Given the description of an element on the screen output the (x, y) to click on. 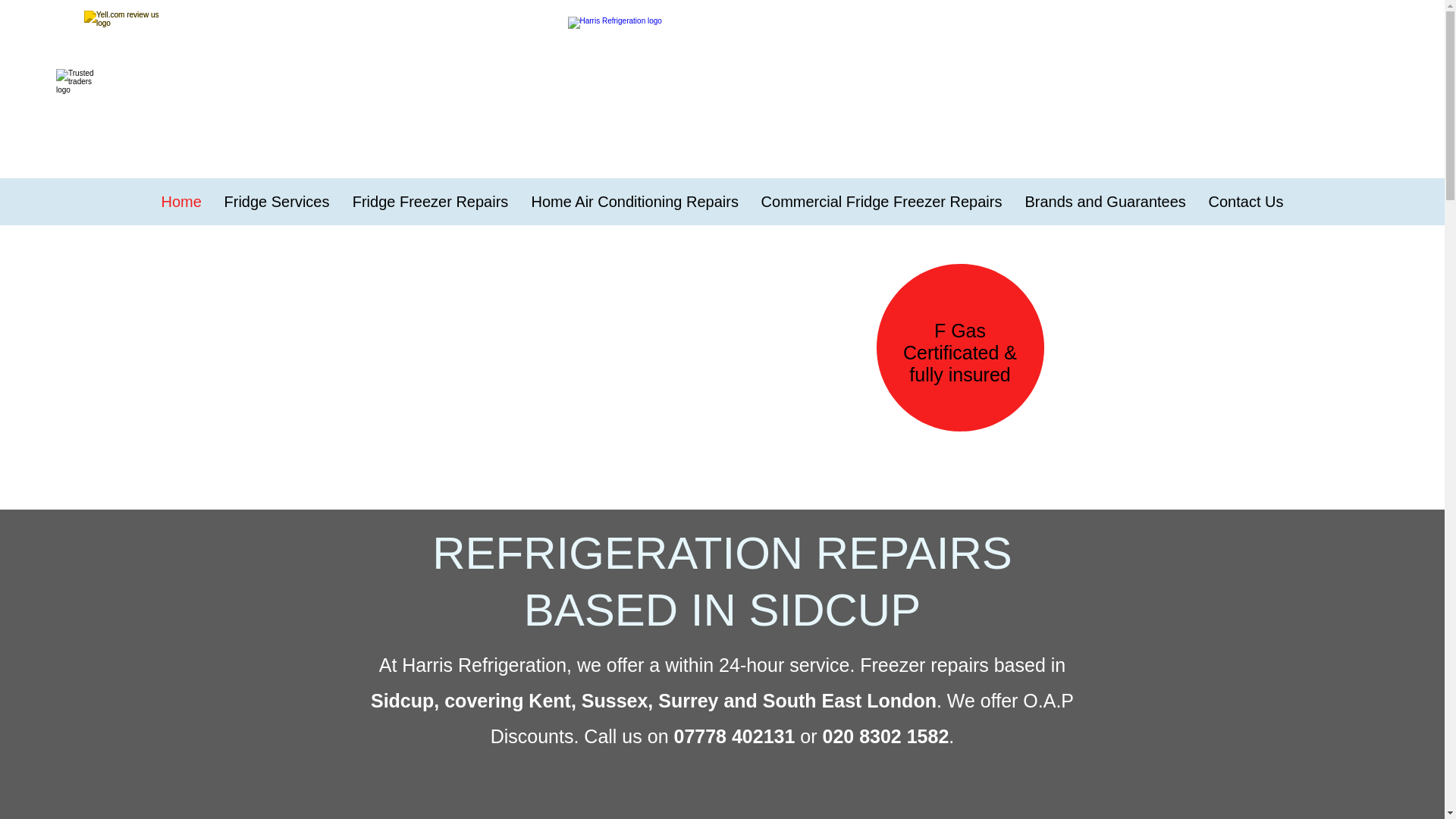
Contact Us (1245, 201)
MicrosoftTeams-image-95w.webp (81, 94)
Home (180, 201)
Brands and Guarantees (1104, 201)
Fridge Services (276, 201)
Commercial Fridge Freezer Repairs (881, 201)
HRS Logo (721, 66)
Fridge Freezer Repairs (429, 201)
Home Air Conditioning Repairs (634, 201)
